Given the description of an element on the screen output the (x, y) to click on. 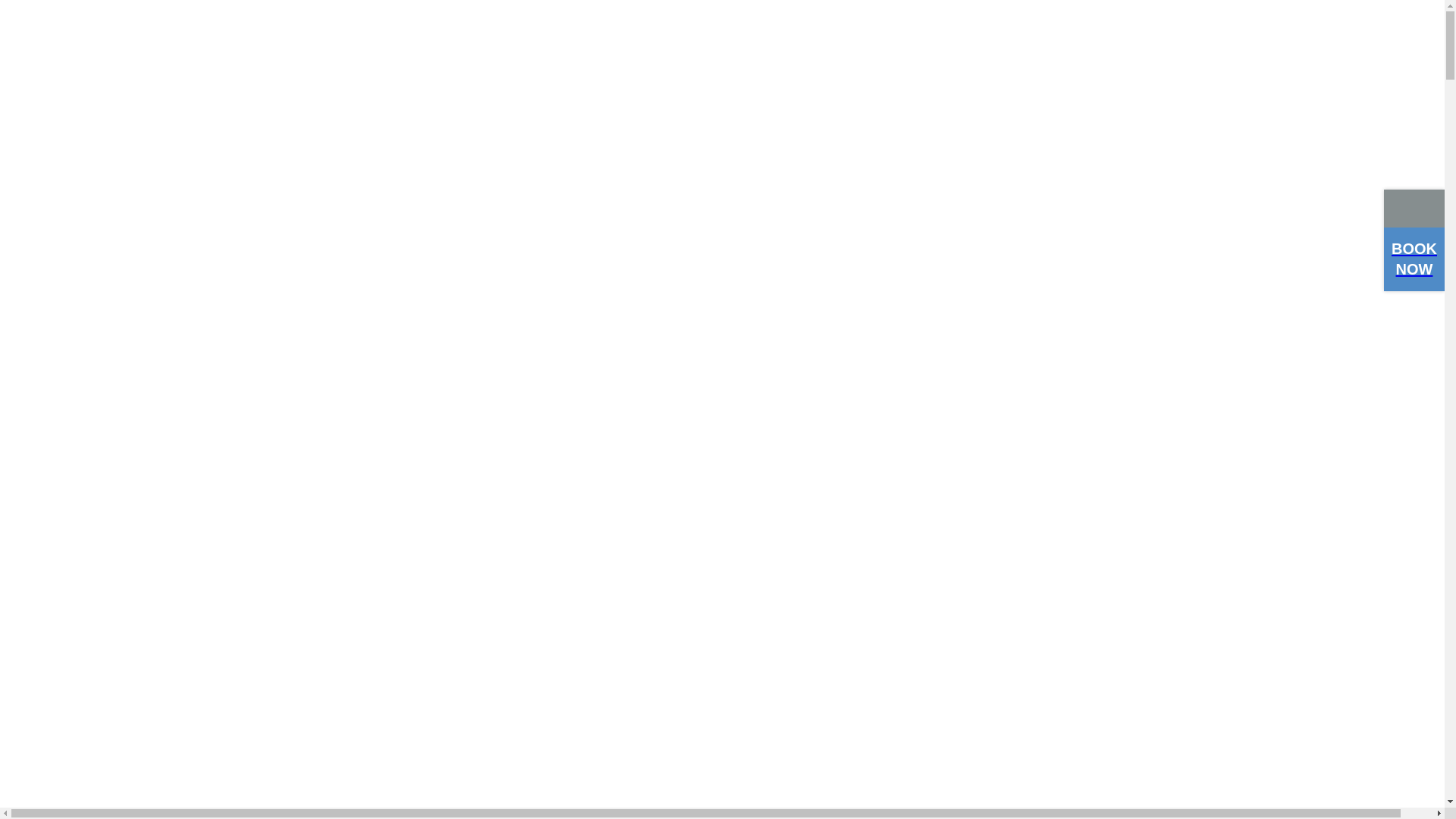
Our Values Element type: text (74, 315)
Pay Online Element type: text (75, 415)
Skip to main content Element type: text (5, 5)
Resources Element type: text (72, 381)
Contact Us Element type: text (75, 398)
BUSINESS Element type: text (103, 518)
Home Element type: text (60, 281)
Our Team Element type: text (71, 348)
About Us Element type: text (70, 298)
Careers Element type: text (65, 365)
Community Element type: text (77, 465)
BOOK NOW Element type: text (1413, 258)
Services Element type: text (67, 331)
Testimonials Element type: text (79, 431)
Your OMB Element type: text (75, 448)
(07) 5555 0000 Element type: text (1095, 237)
